Given the description of an element on the screen output the (x, y) to click on. 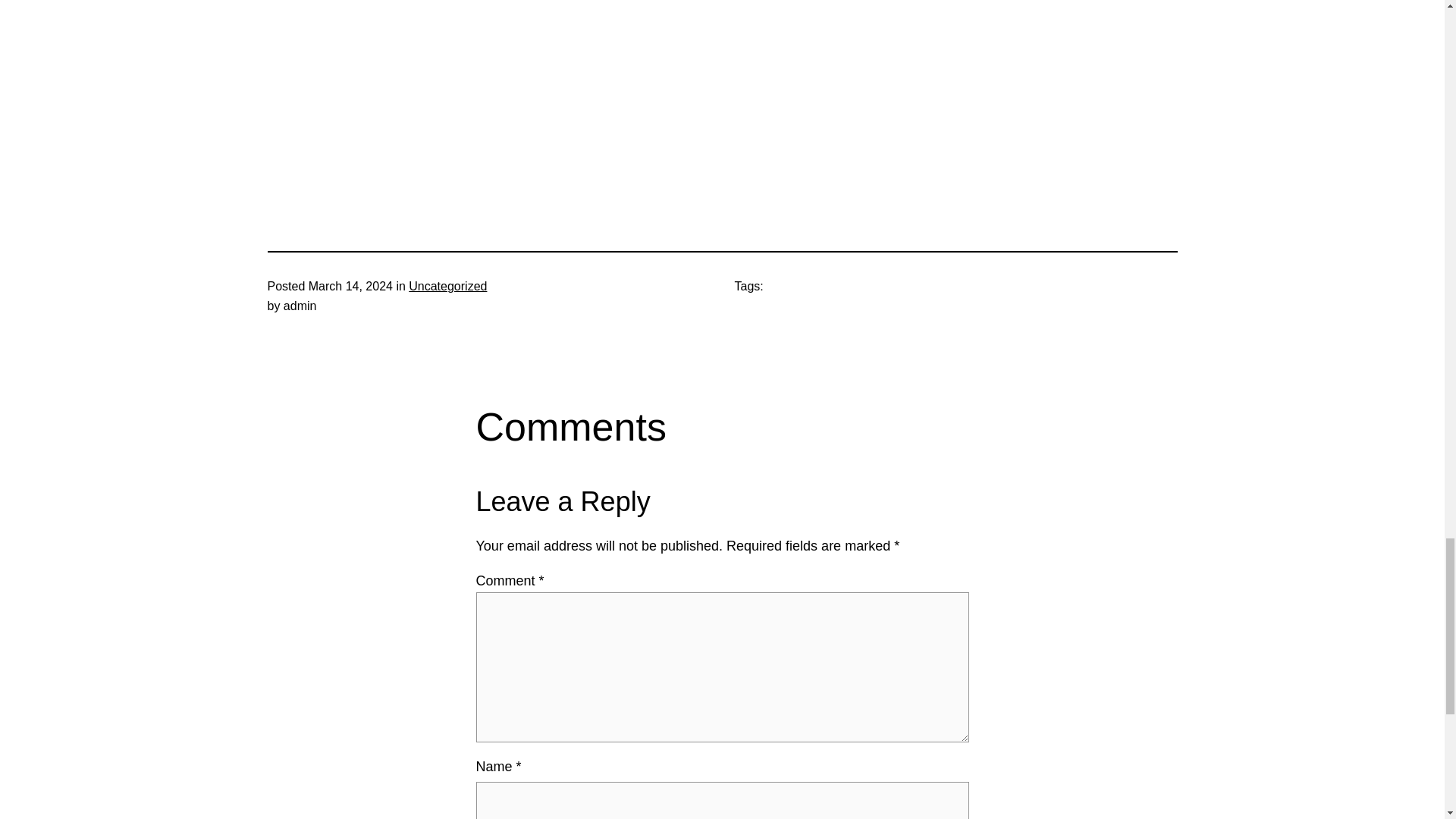
Uncategorized (447, 286)
